Given the description of an element on the screen output the (x, y) to click on. 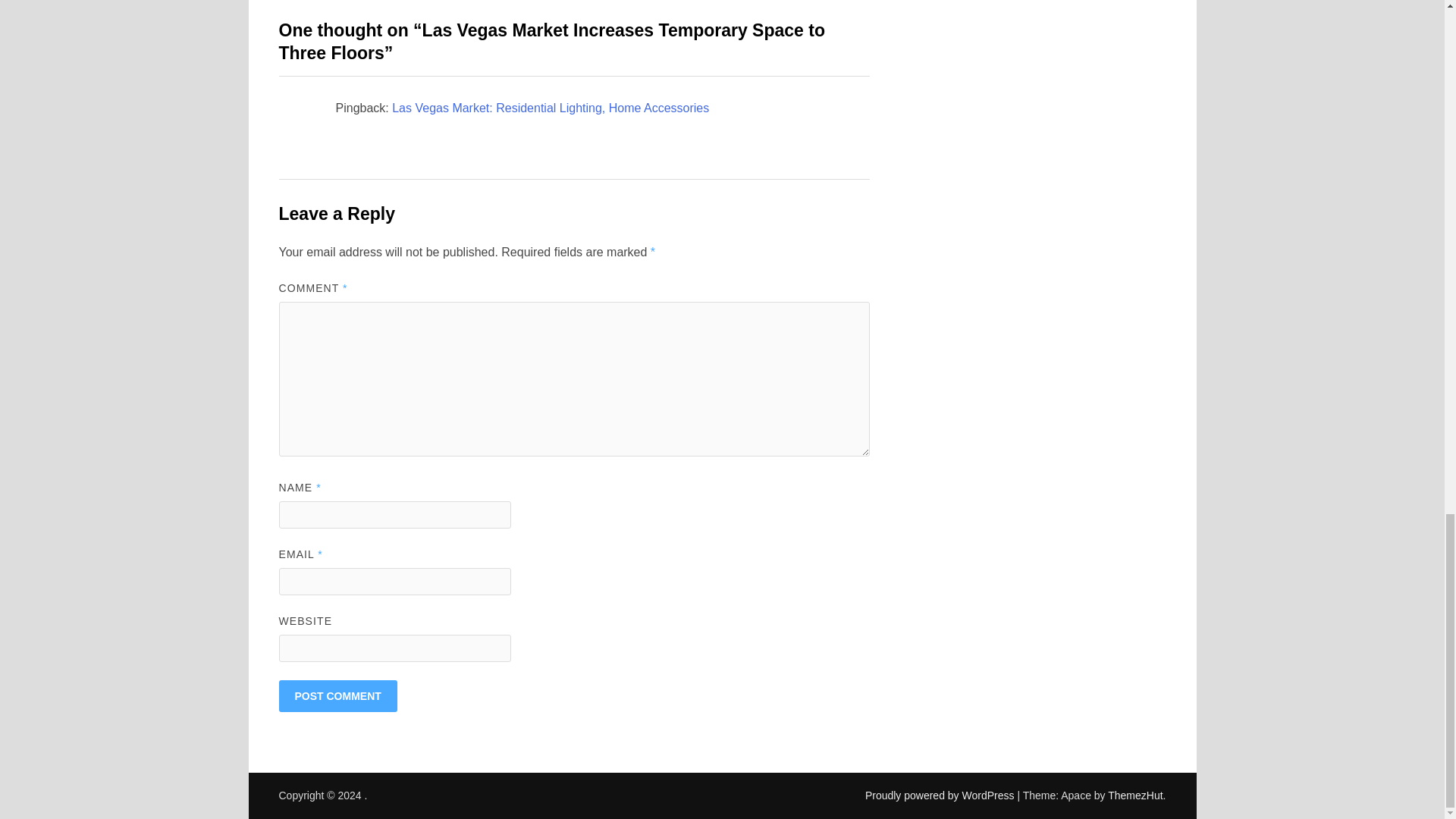
Post Comment (338, 695)
Las Vegas Market: Residential Lighting, Home Accessories (550, 107)
Post Comment (338, 695)
